Given the description of an element on the screen output the (x, y) to click on. 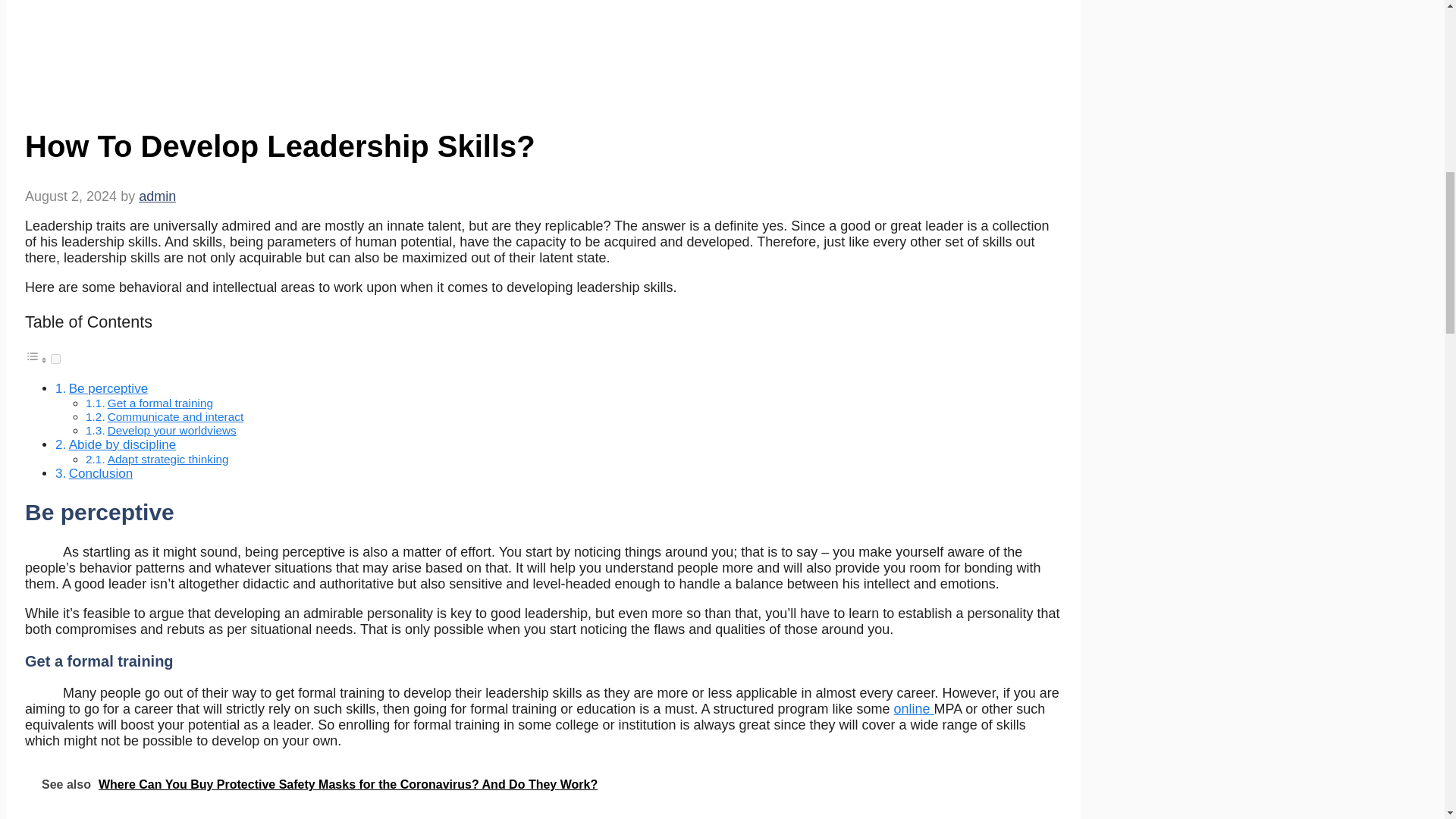
Conclusion (122, 444)
Scroll back to top (108, 388)
on (100, 473)
Be perceptive (1406, 720)
Conclusion (55, 358)
online (171, 430)
